Given the description of an element on the screen output the (x, y) to click on. 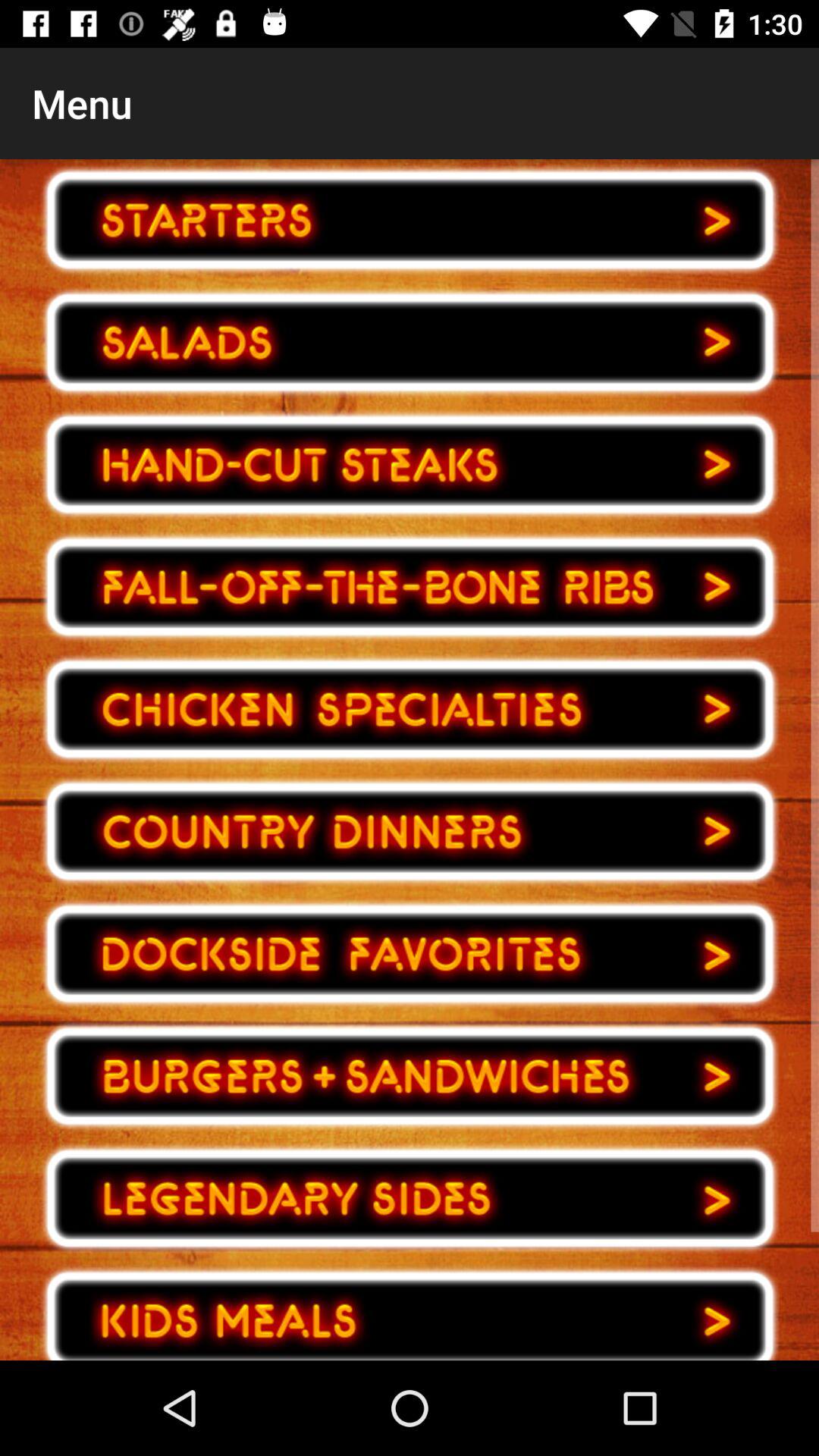
choose your choice (409, 1198)
